Given the description of an element on the screen output the (x, y) to click on. 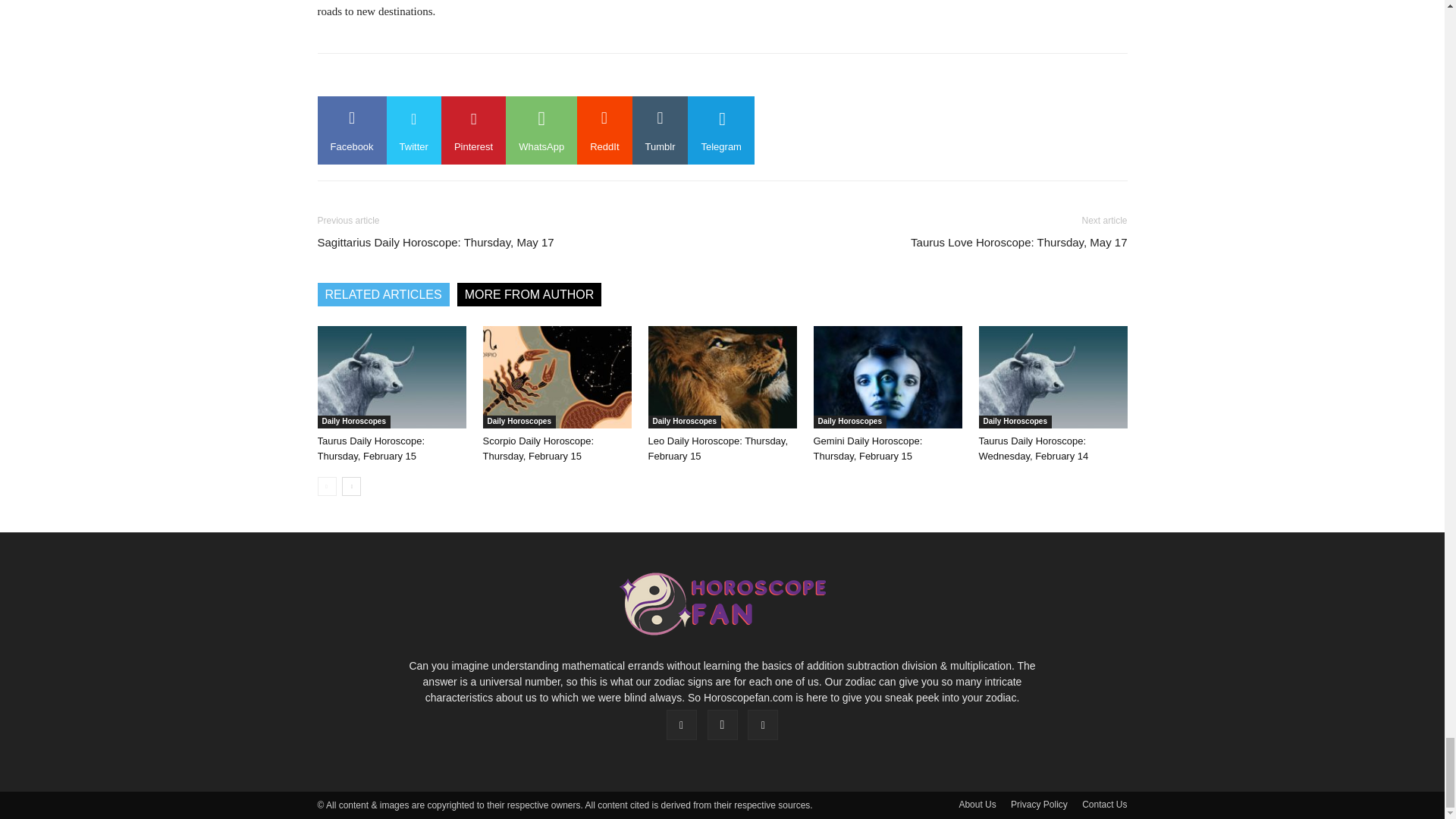
Facebook (351, 130)
bottomFacebookLike (430, 77)
